Given the description of an element on the screen output the (x, y) to click on. 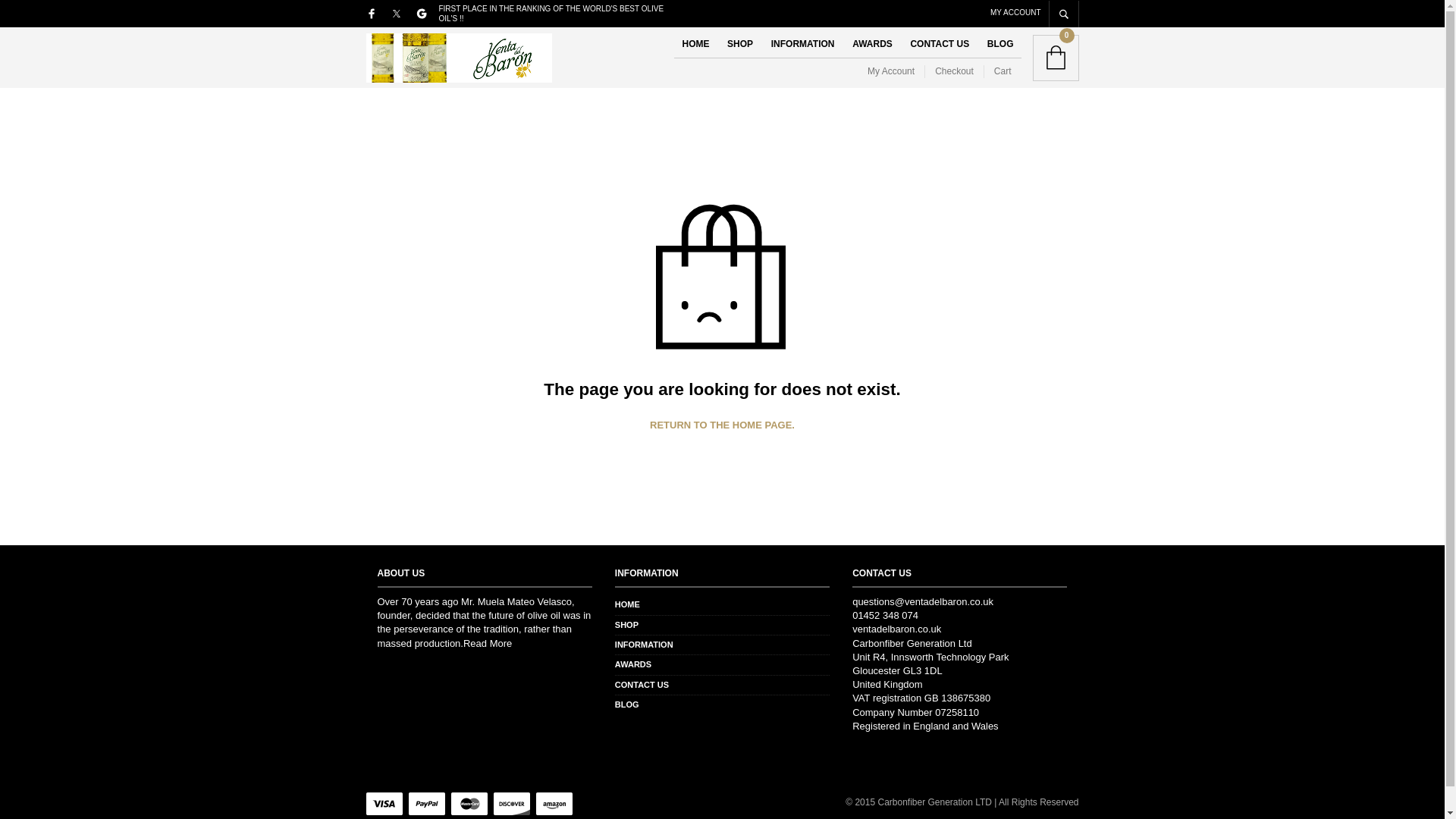
HOME (627, 604)
INFORMATION (643, 644)
0 (1055, 58)
BLOG (1000, 44)
BLOG (626, 704)
HOME (695, 44)
AWARDS (632, 664)
Checkout (954, 71)
SHOP (739, 44)
RETURN TO THE HOME PAGE. (721, 425)
MY ACCOUNT (1015, 11)
Cart (1003, 71)
CONTACT US (939, 44)
INFORMATION (802, 44)
Read More (487, 643)
